Given the description of an element on the screen output the (x, y) to click on. 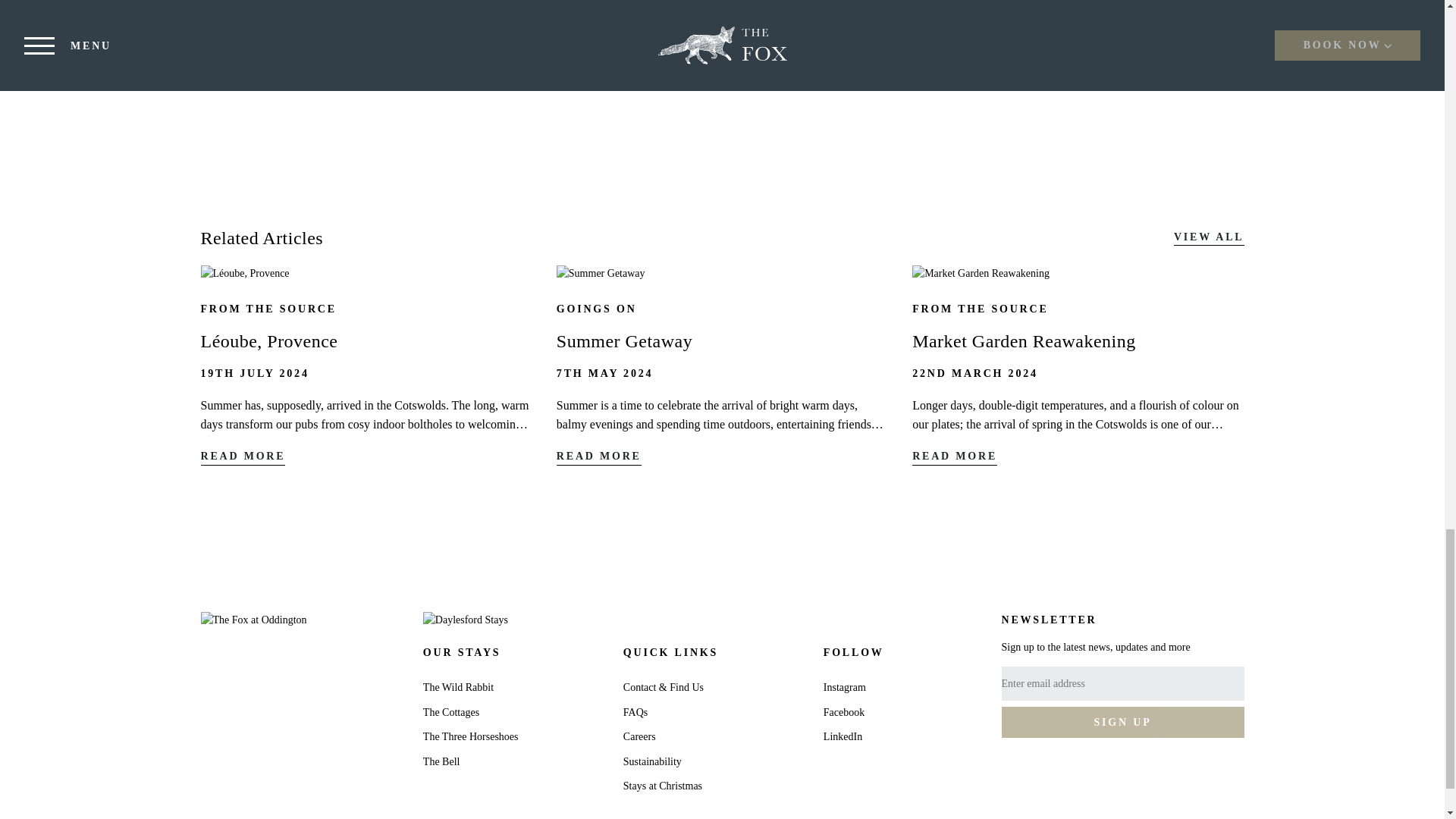
READ MORE (954, 458)
The Cottages (451, 712)
GOINGS ON (596, 308)
READ MORE (599, 458)
Yes (1007, 717)
The Three Horseshoes (470, 736)
The Bell (441, 761)
READ MORE (242, 458)
VIEW ALL (1208, 238)
The Wild Rabbit (458, 686)
